Given the description of an element on the screen output the (x, y) to click on. 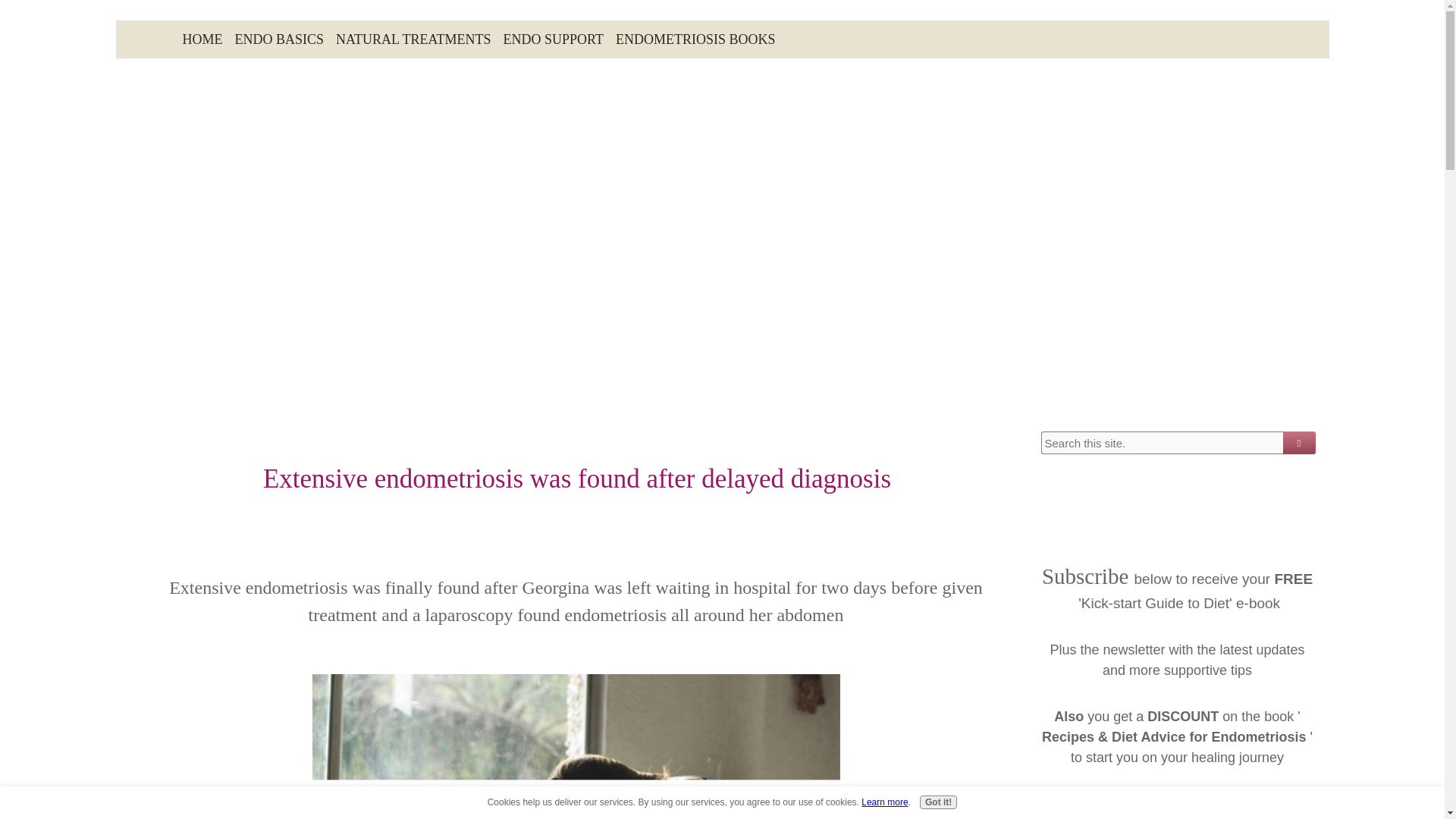
ENDOMETRIOSIS BOOKS (695, 39)
HOME (202, 39)
